Given the description of an element on the screen output the (x, y) to click on. 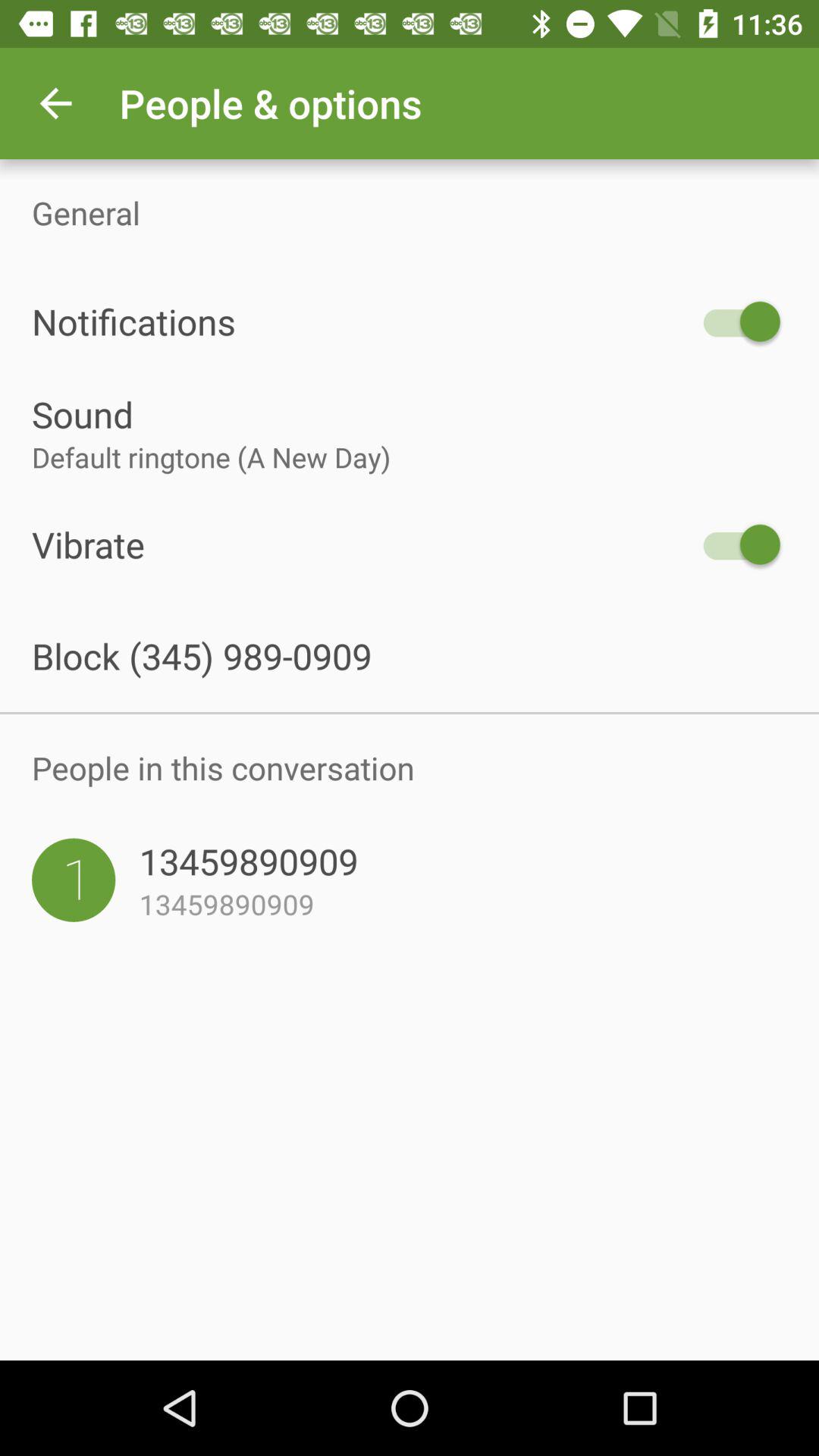
tap icon below block 345 989 icon (409, 713)
